Given the description of an element on the screen output the (x, y) to click on. 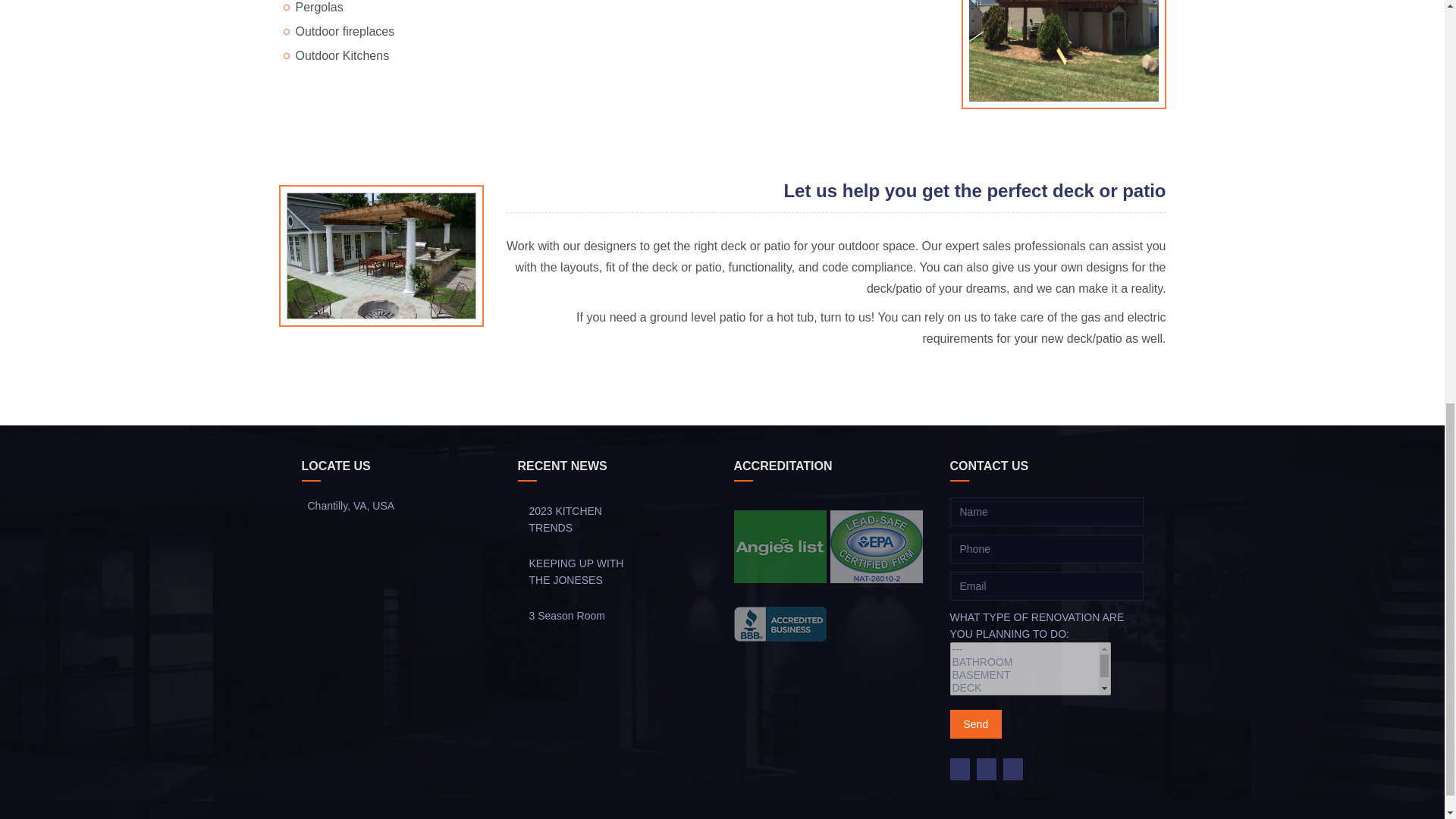
3 Season Room (579, 615)
2023 KITCHEN TRENDS (579, 510)
KEEPING UP WITH THE JONESES (579, 563)
Send (975, 724)
Send (975, 724)
